Given the description of an element on the screen output the (x, y) to click on. 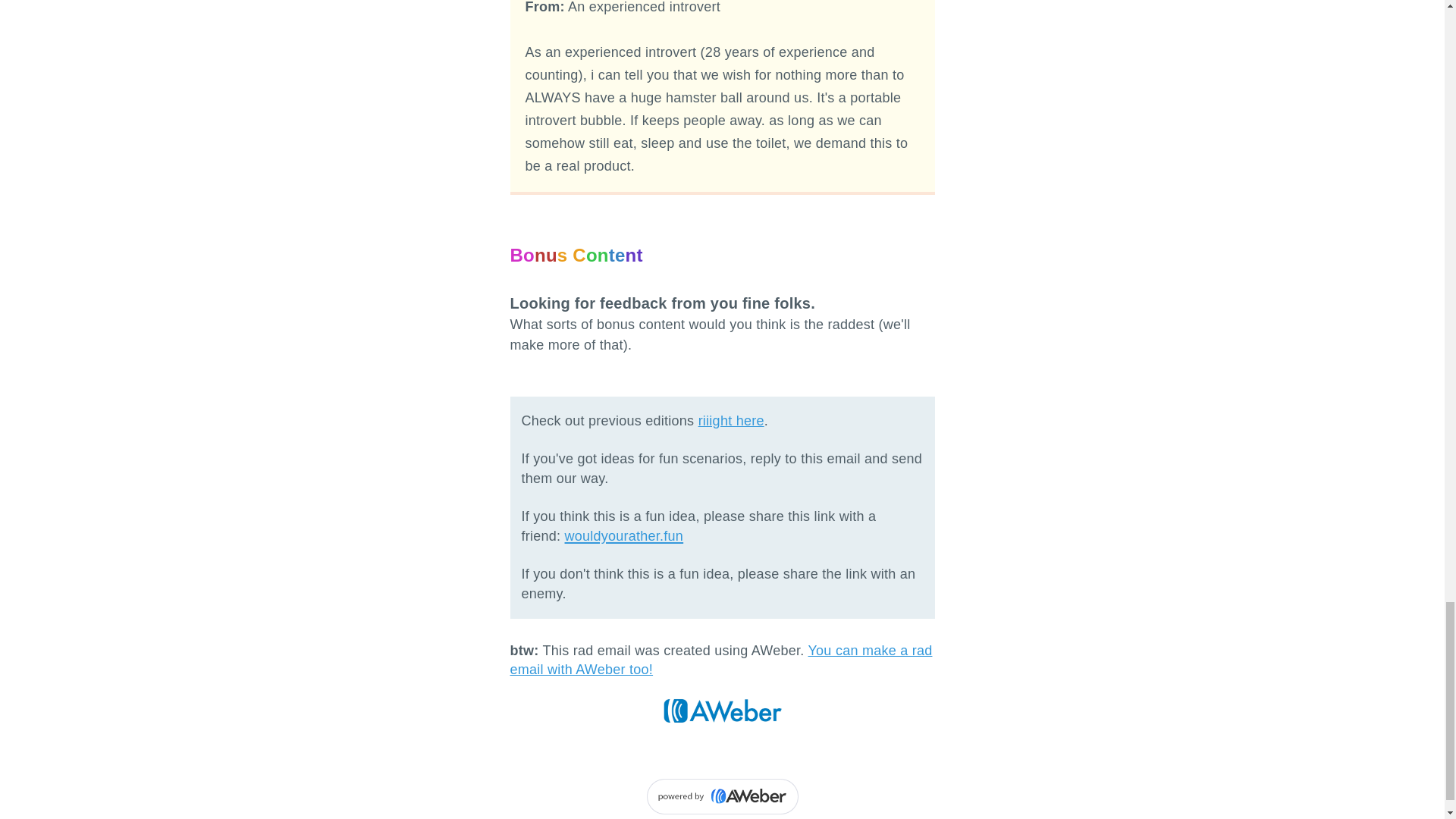
riiight here (731, 420)
You can make a rad email with AWeber too! (720, 659)
wouldyourather.fun (624, 534)
